Given the description of an element on the screen output the (x, y) to click on. 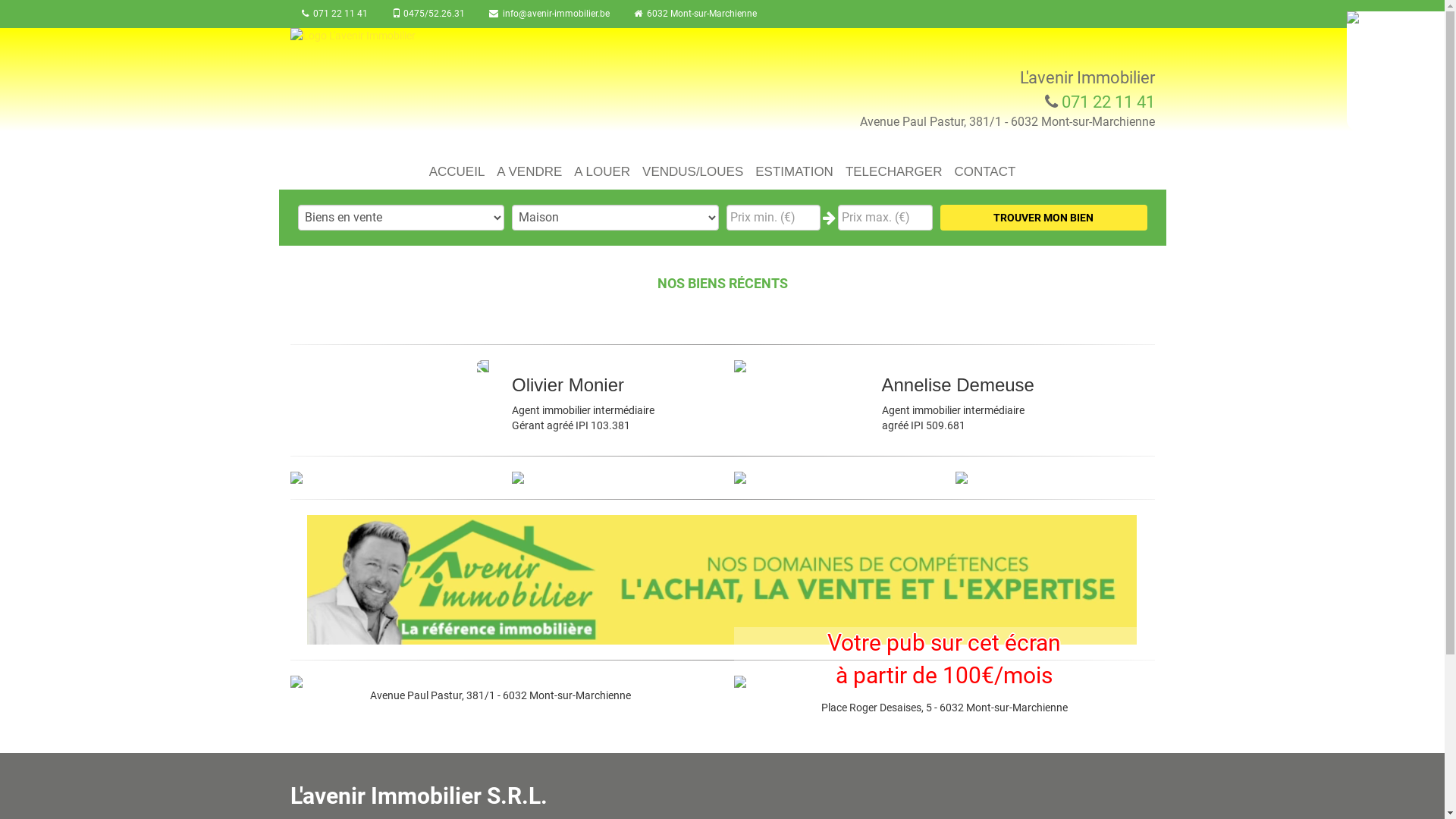
A LOUER Element type: text (601, 167)
VENDUS/LOUES Element type: text (692, 167)
 info@avenir-immobilier.be Element type: text (549, 14)
ACCUEIL Element type: text (457, 167)
 071 22 11 41 Element type: text (333, 14)
 0475/52.26.31 Element type: text (428, 14)
A VENDRE Element type: text (528, 167)
TELECHARGER Element type: text (893, 167)
CONTACT Element type: text (984, 167)
TROUVER MON BIEN Element type: text (1043, 217)
 6032 Mont-sur-Marchienne Element type: text (694, 14)
ESTIMATION Element type: text (794, 167)
